Given the description of an element on the screen output the (x, y) to click on. 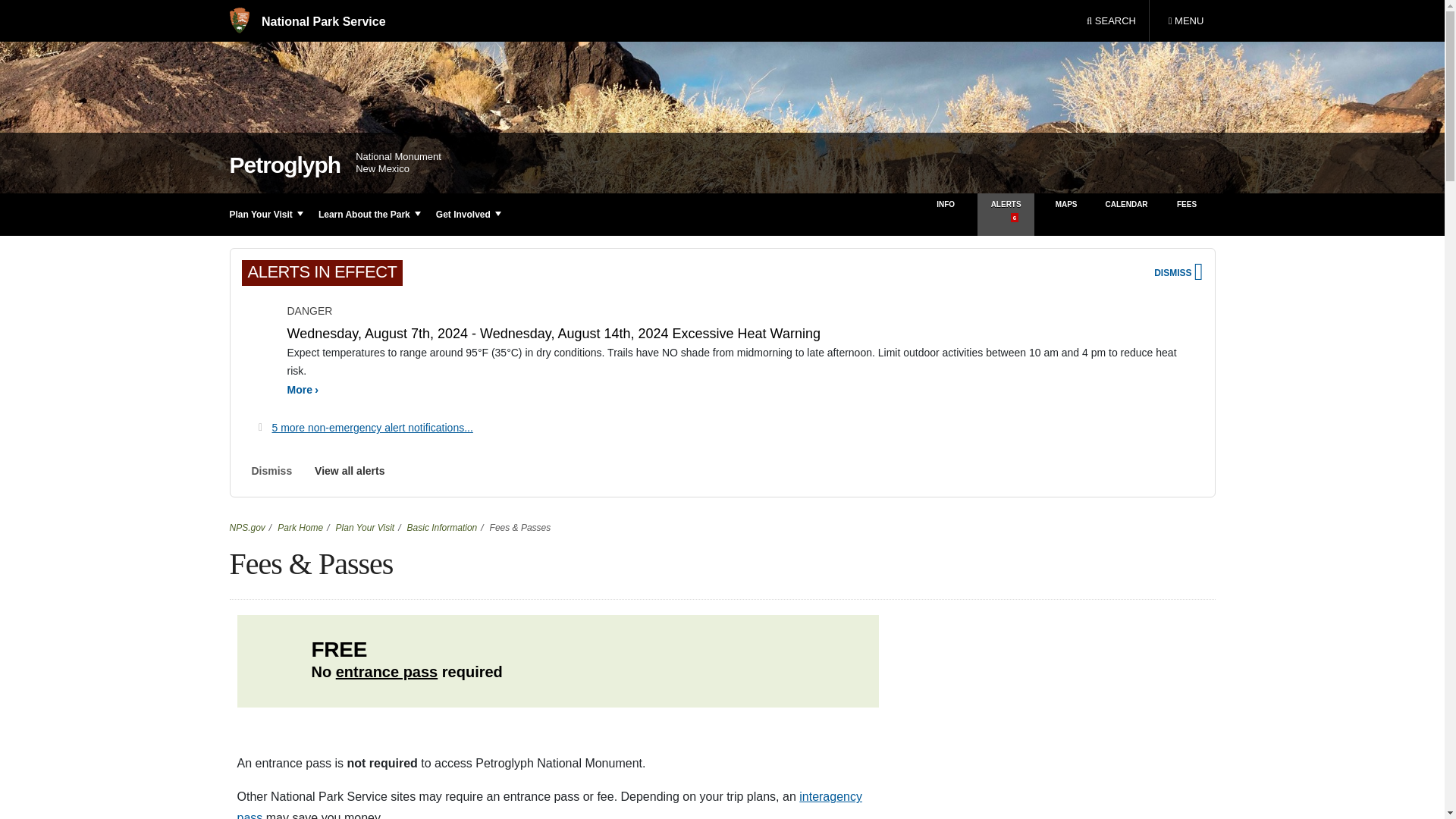
SEARCH (1111, 20)
National Park Service (307, 20)
Alert Level danger (1185, 20)
